Given the description of an element on the screen output the (x, y) to click on. 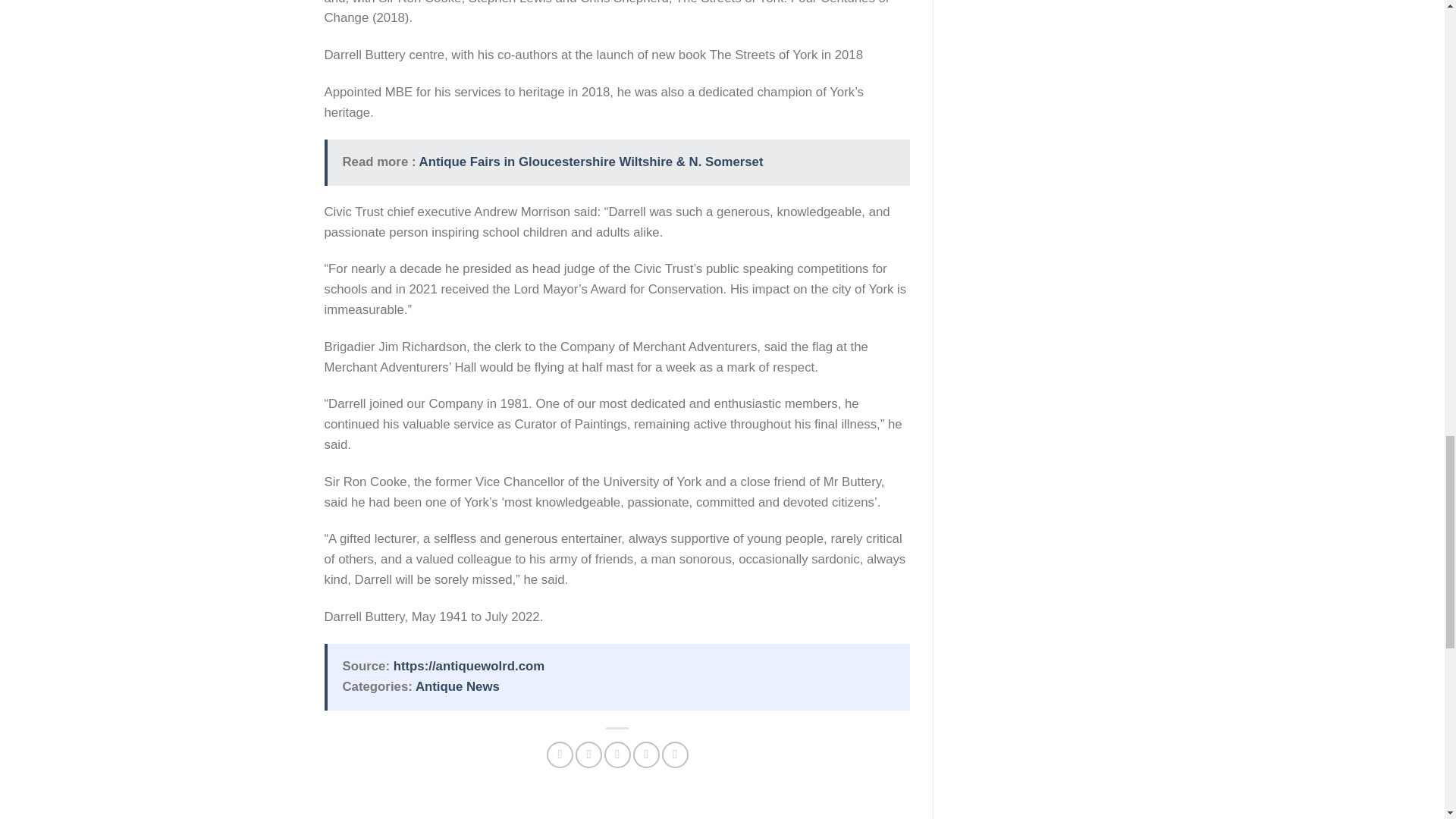
Email to a Friend (617, 755)
Share on Facebook (560, 755)
Share on Twitter (588, 755)
Antique News (456, 686)
Share on LinkedIn (675, 755)
Pin on Pinterest (646, 755)
